Given the description of an element on the screen output the (x, y) to click on. 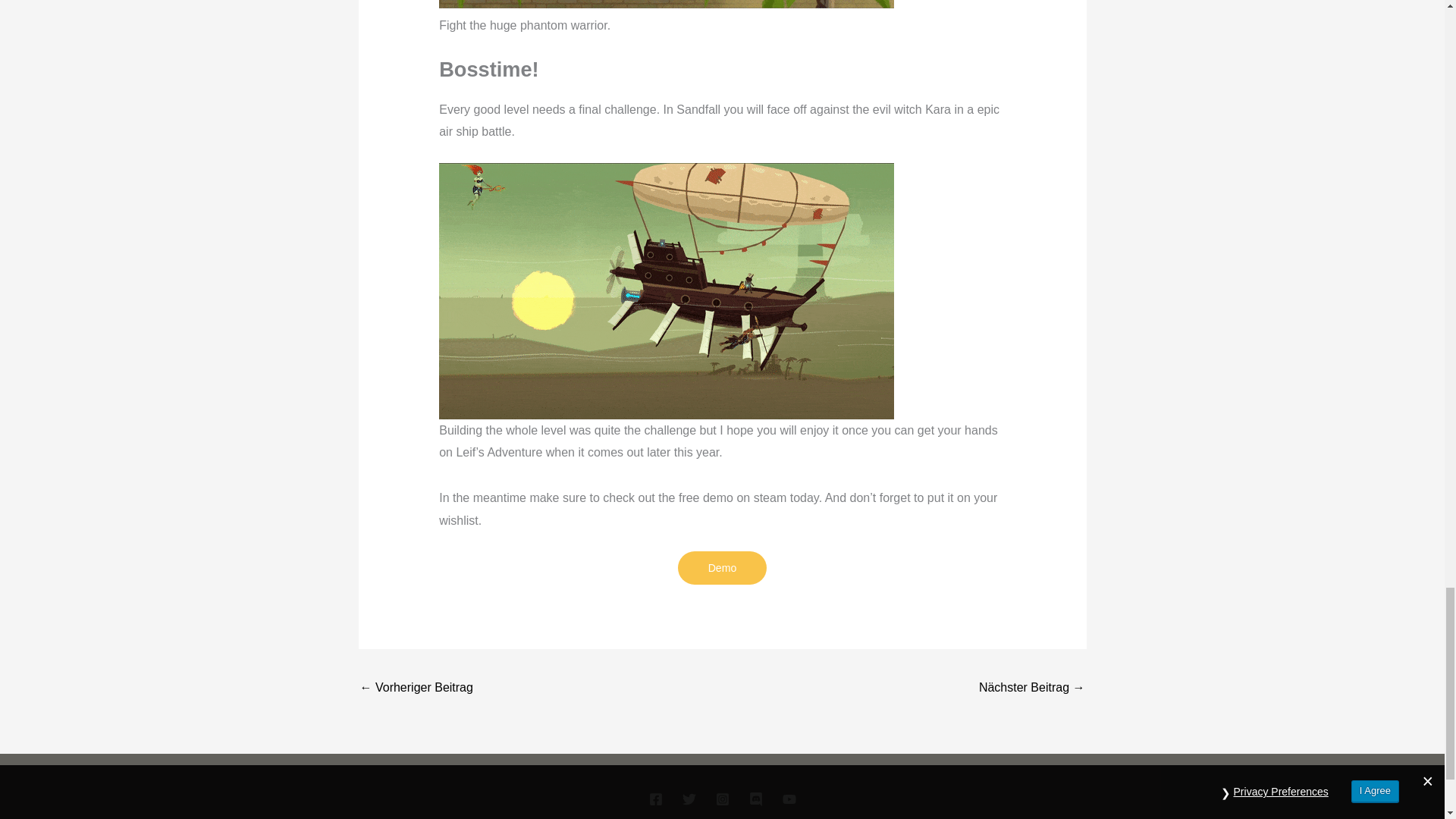
Hub Level Reconstrucion (415, 688)
An unlikely hero! (1031, 688)
Demo (722, 567)
